Given the description of an element on the screen output the (x, y) to click on. 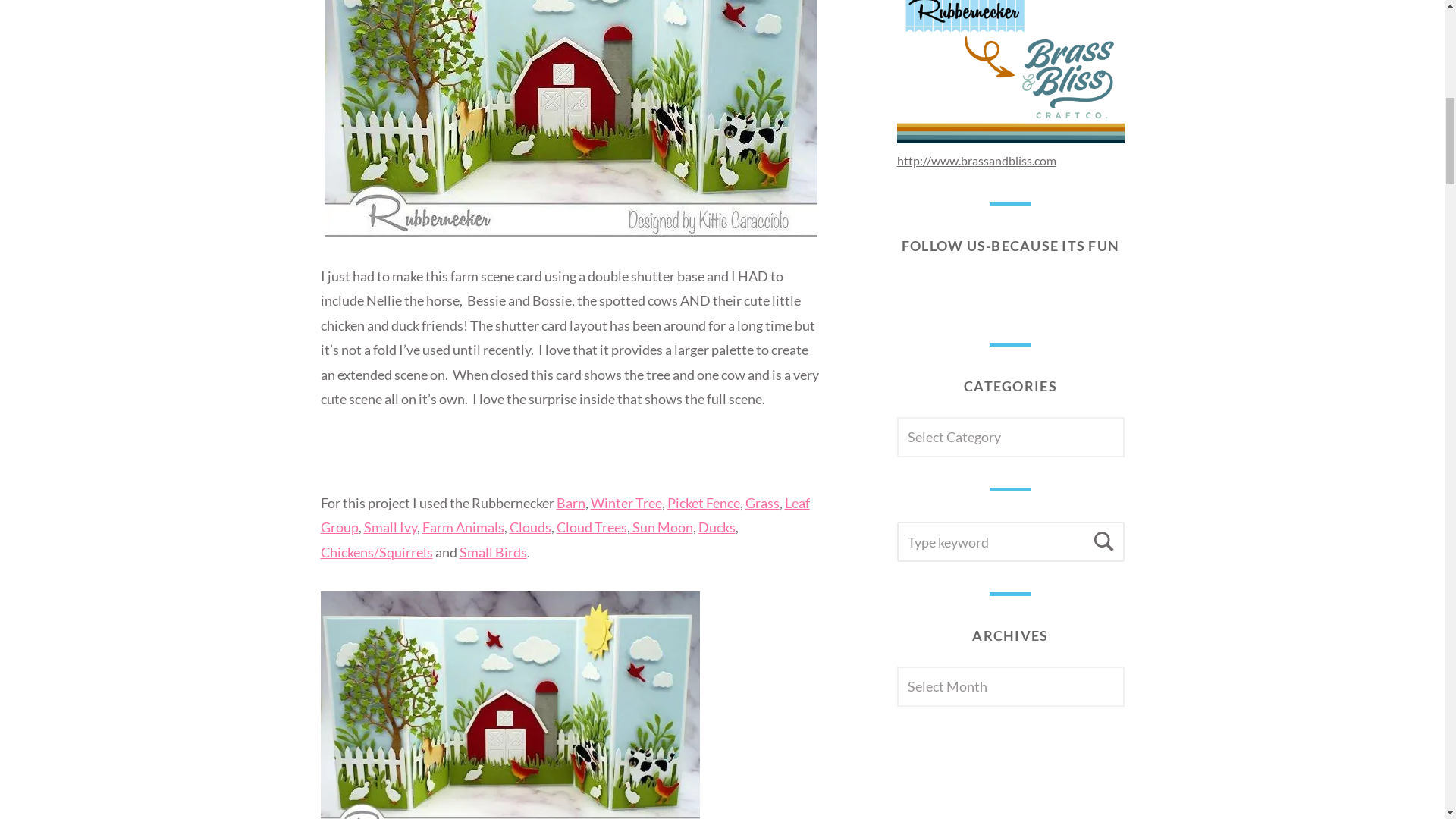
Barn (570, 502)
Picket Fence 5152-01D (702, 502)
Winter Tree (625, 502)
Small Birds (493, 551)
Rubbernecker 5210-01D Cloud Tree (591, 526)
Leaf Group (564, 514)
Rubbernecker 5201-01D Barn (570, 502)
5170D Winter Tree (625, 502)
Rubbernecker 5147-07D Sun Moon (660, 526)
5142-03D Chicken Squirrels Die Set (376, 551)
5118D Leaf Group Die (564, 514)
Picket Fence (702, 502)
Clouds (530, 526)
Ducks (716, 526)
Rubbernecker 5201-02D Farm Animals (462, 526)
